Given the description of an element on the screen output the (x, y) to click on. 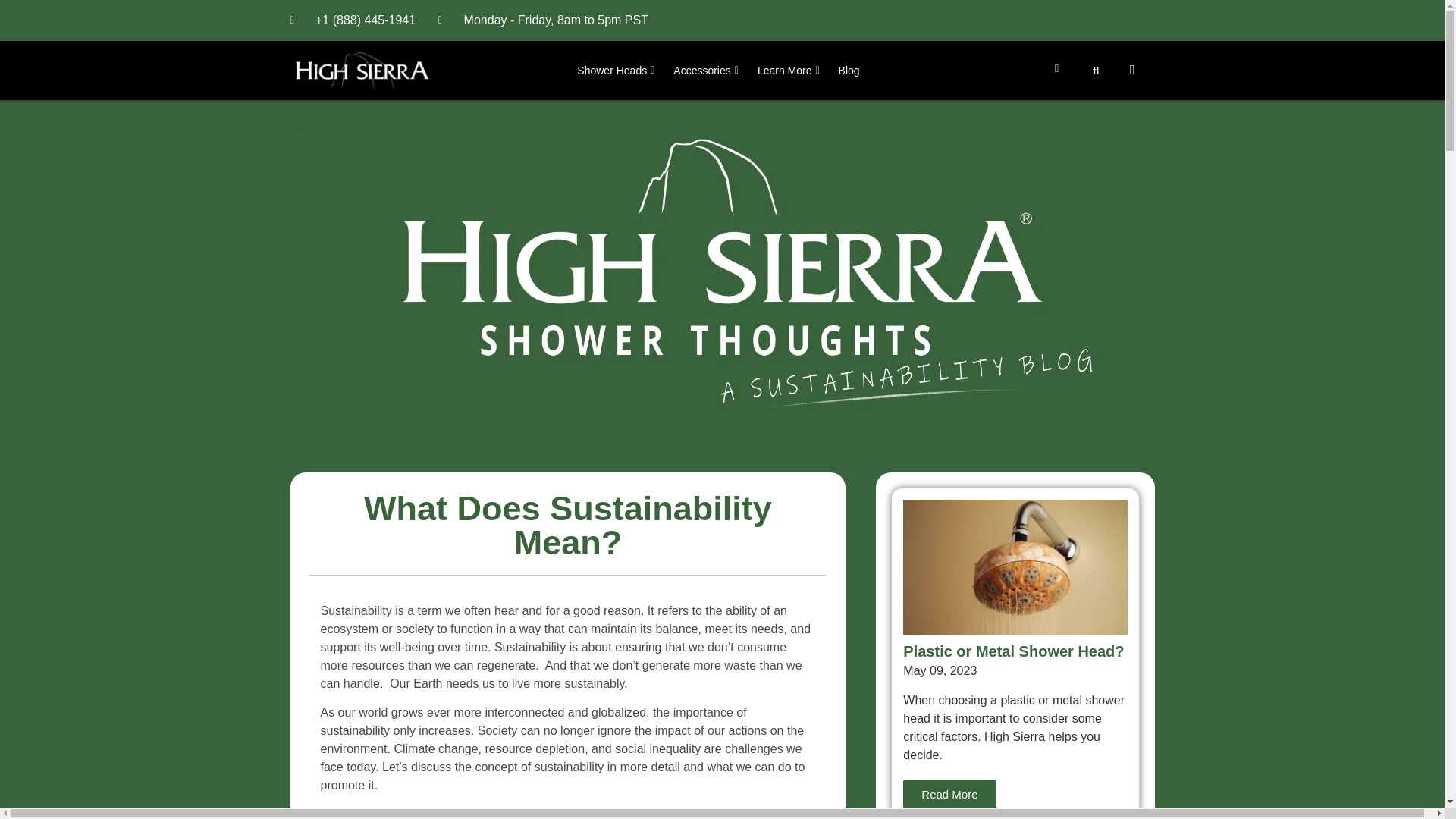
Learn More (790, 70)
Accessories (707, 70)
Desktop-Logo.png (362, 70)
Blog (849, 70)
Shower Heads (617, 70)
